Given the description of an element on the screen output the (x, y) to click on. 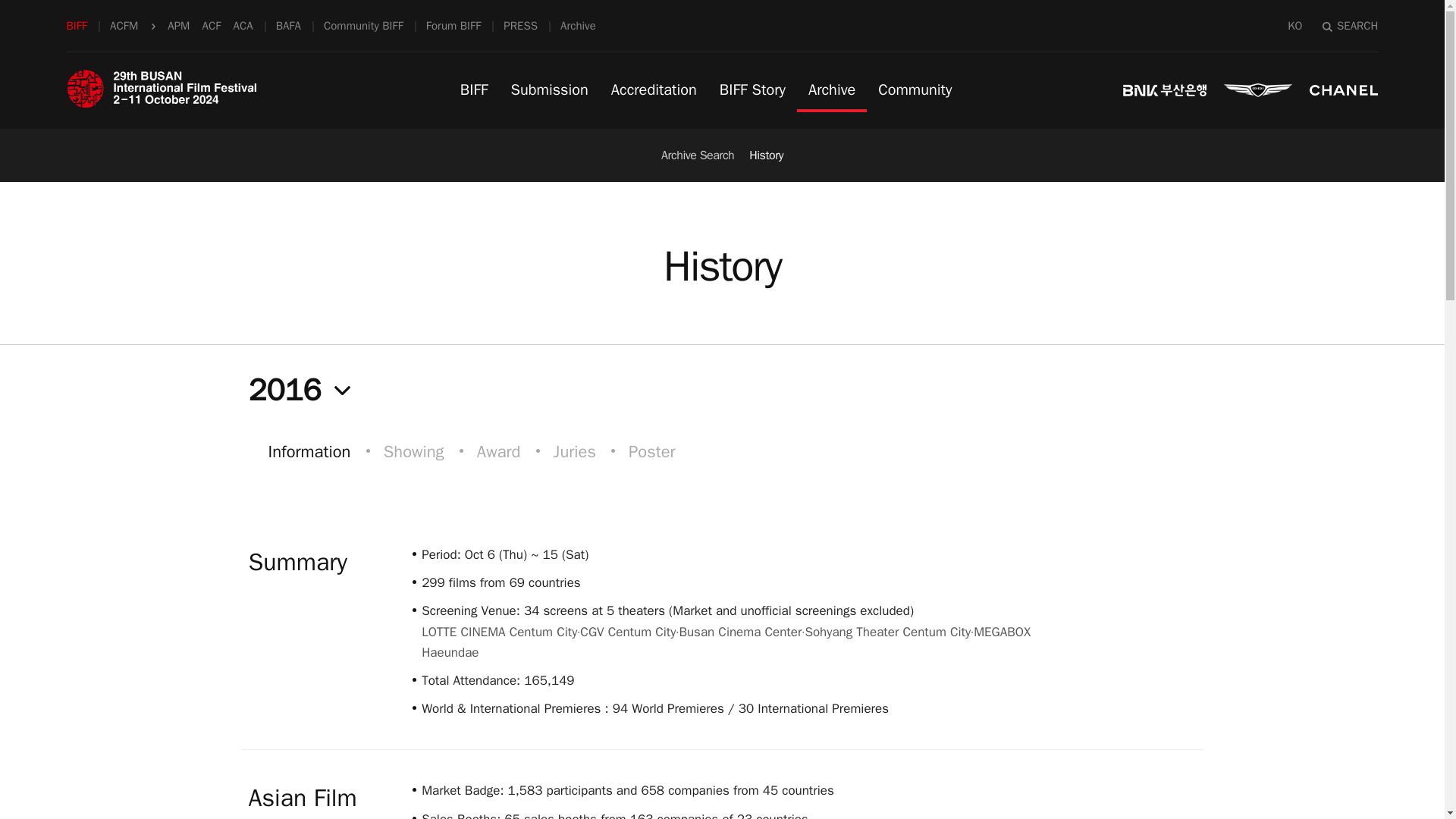
ACF (211, 25)
BIFF Story (752, 89)
Forum BIFF (453, 25)
Community BIFF (363, 25)
ACA (242, 25)
Accreditation (654, 89)
BIFF (76, 25)
BAFA (288, 25)
APM (178, 25)
Submission (549, 89)
